Given the description of an element on the screen output the (x, y) to click on. 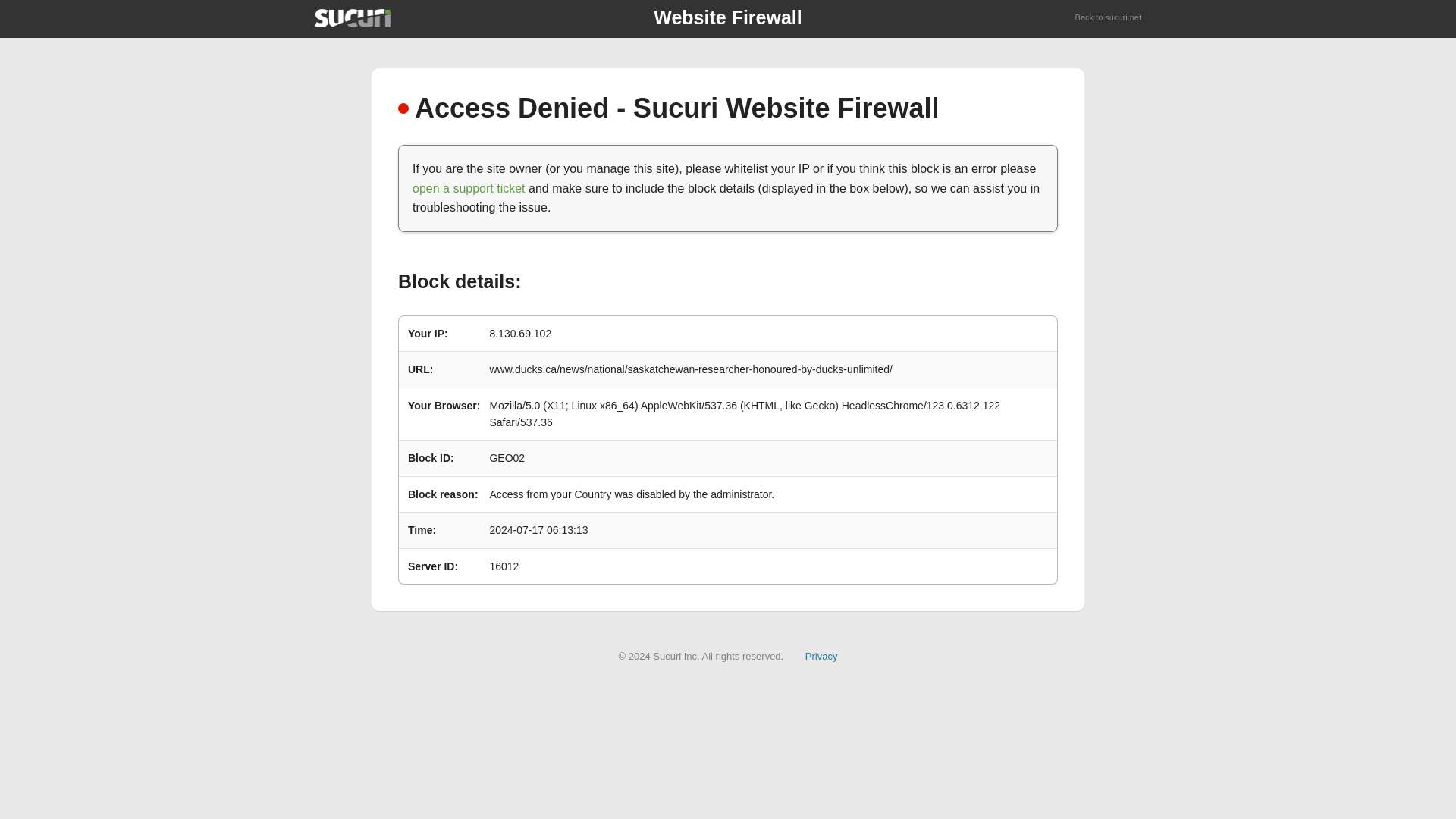
open a support ticket (468, 187)
Privacy (821, 655)
Back to sucuri.net (1108, 18)
